Given the description of an element on the screen output the (x, y) to click on. 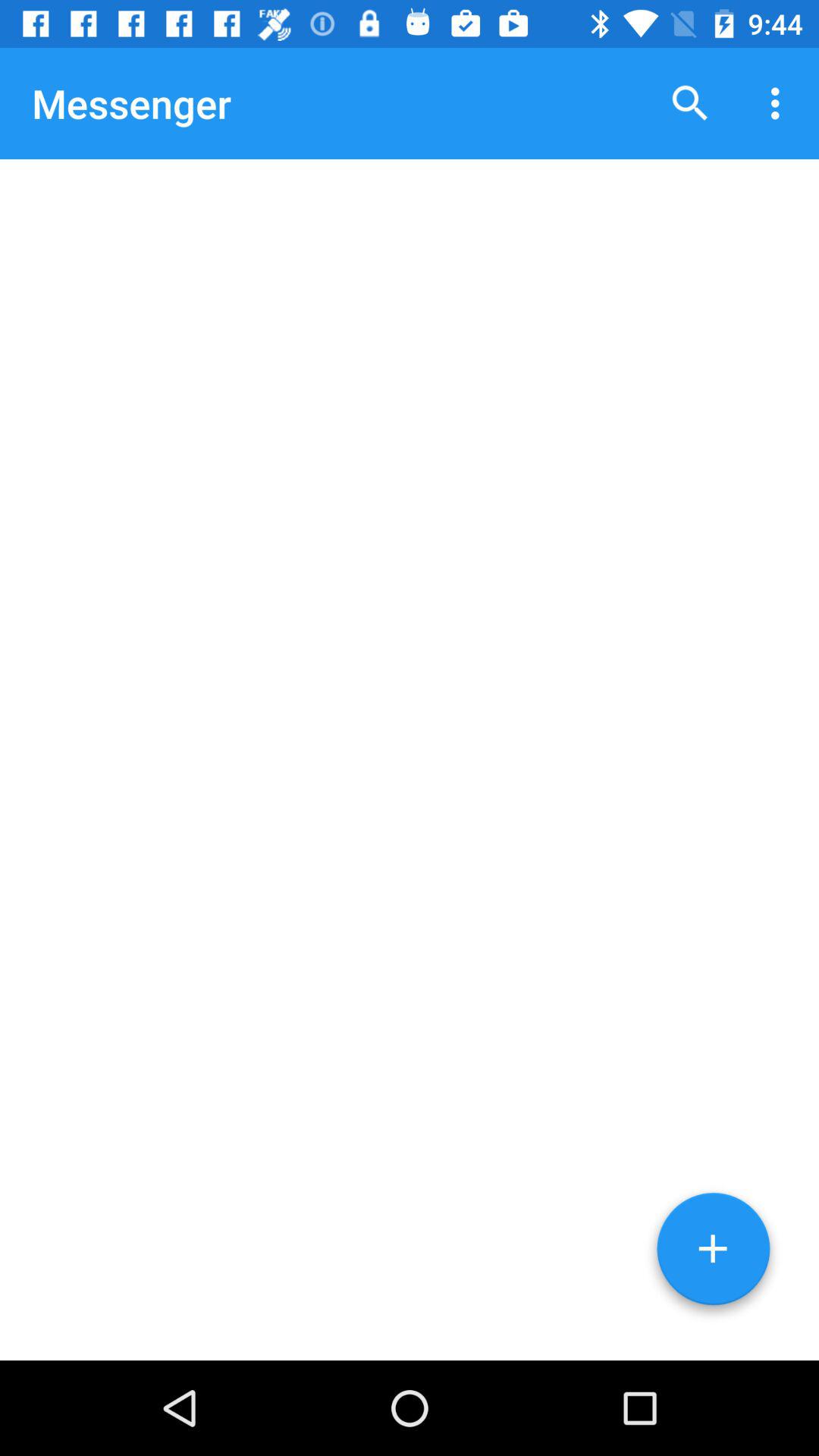
open the icon next to the messenger icon (690, 103)
